Given the description of an element on the screen output the (x, y) to click on. 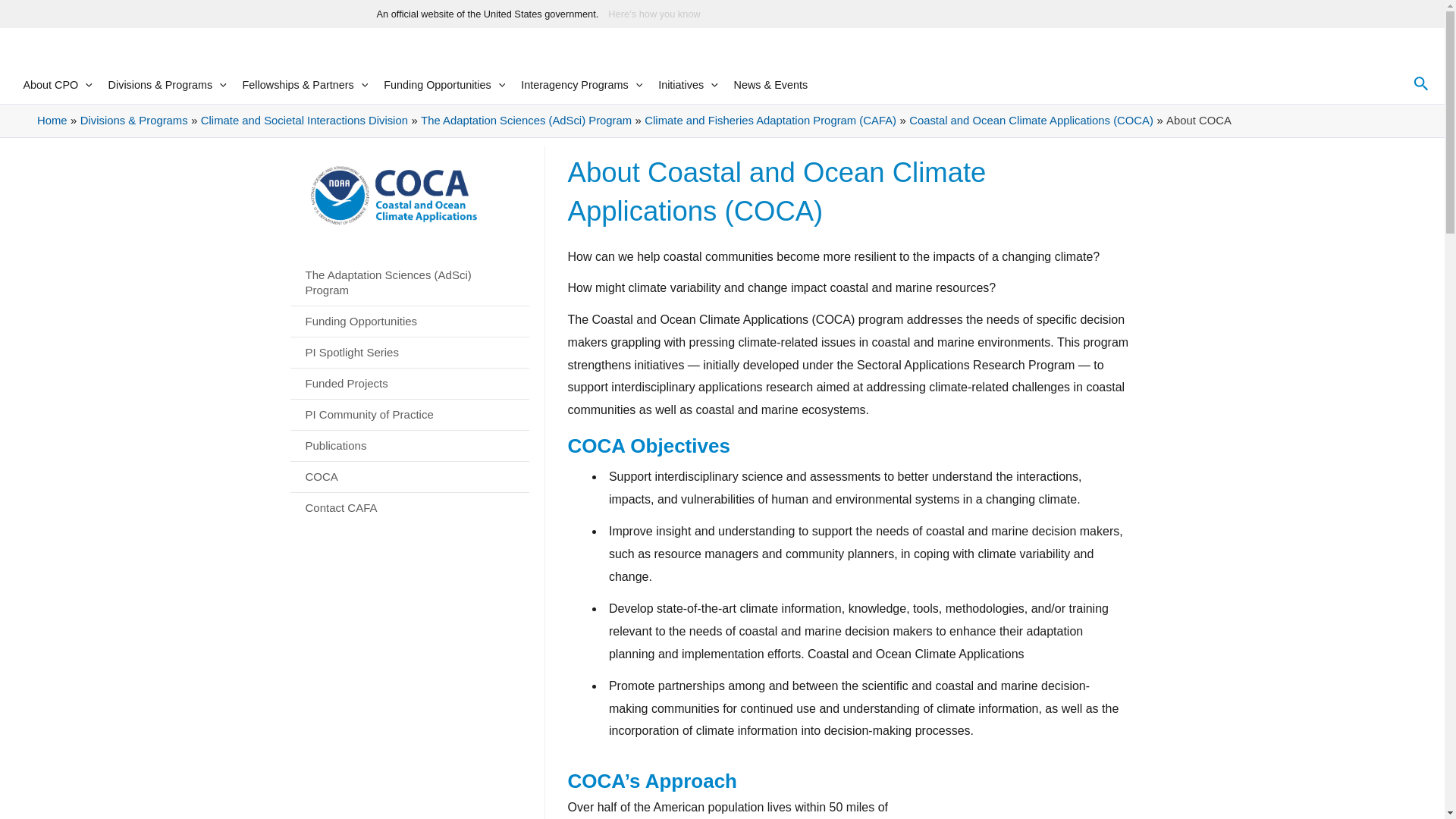
About CPO (57, 85)
